Given the description of an element on the screen output the (x, y) to click on. 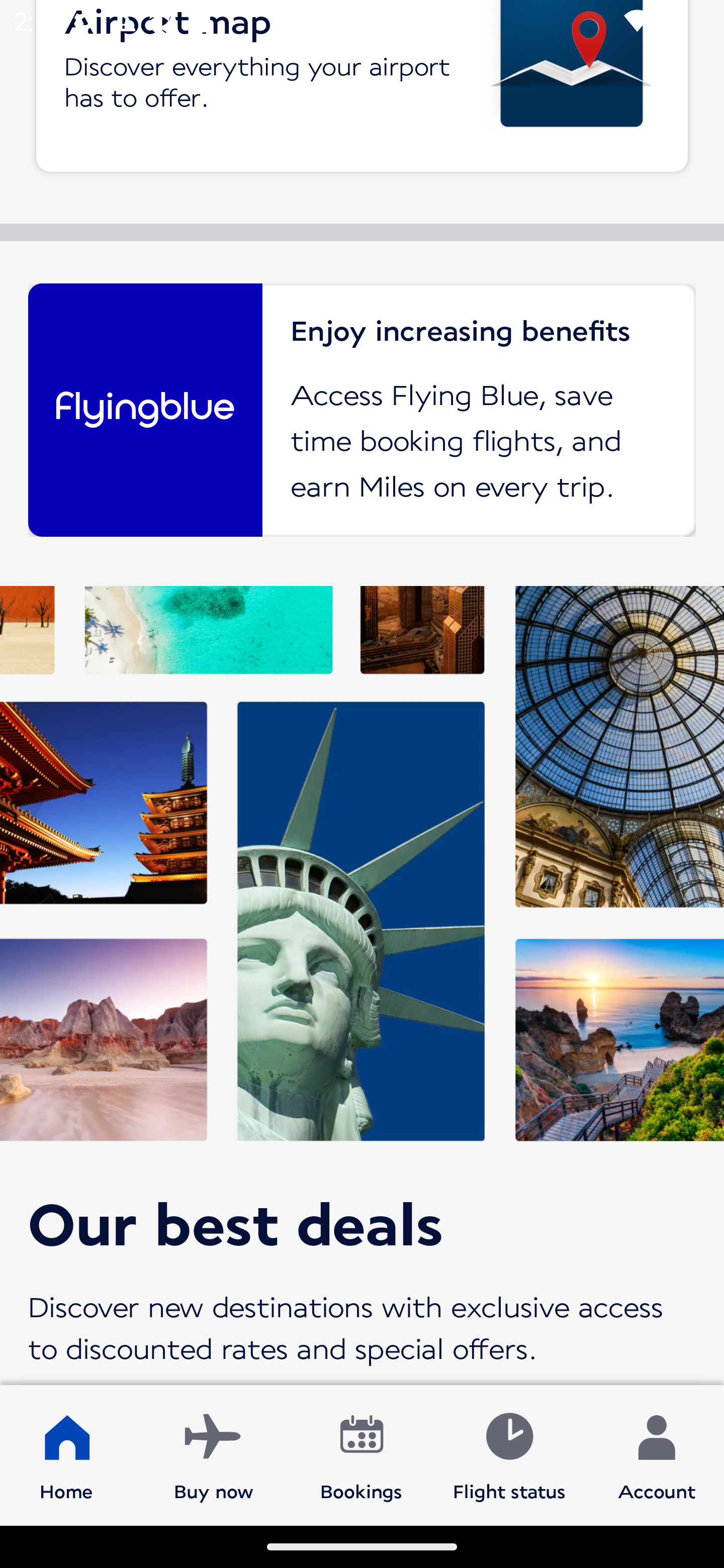
Buy now (213, 1454)
Bookings (361, 1454)
Flight status (509, 1454)
Account (657, 1454)
